Given the description of an element on the screen output the (x, y) to click on. 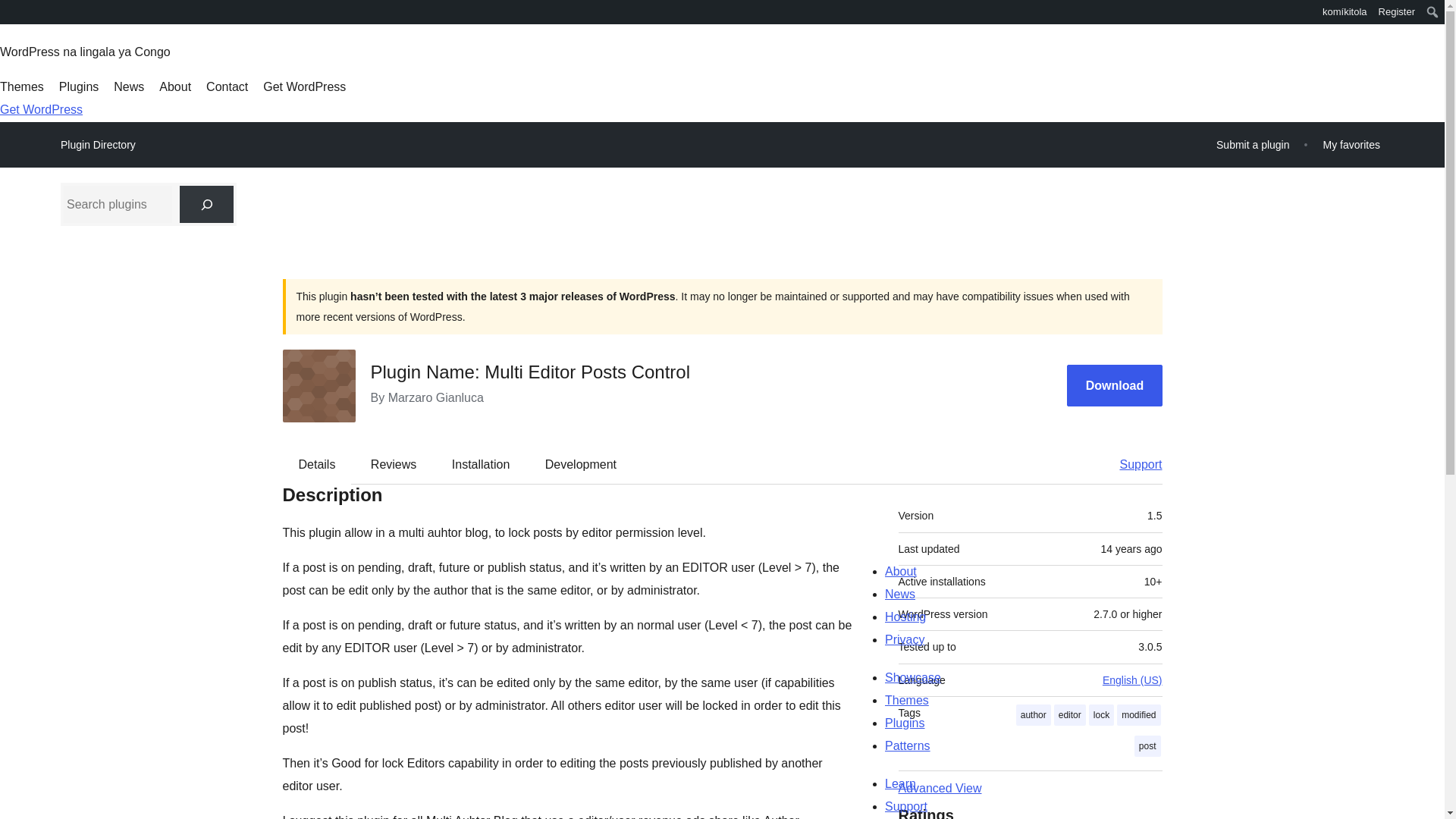
Installation (480, 464)
Plugins (79, 87)
Contact (226, 87)
Plugin Directory (97, 144)
author (1033, 715)
Themes (21, 87)
Get WordPress (304, 87)
My favorites (1351, 144)
WordPress.org (10, 10)
About (174, 87)
